Given the description of an element on the screen output the (x, y) to click on. 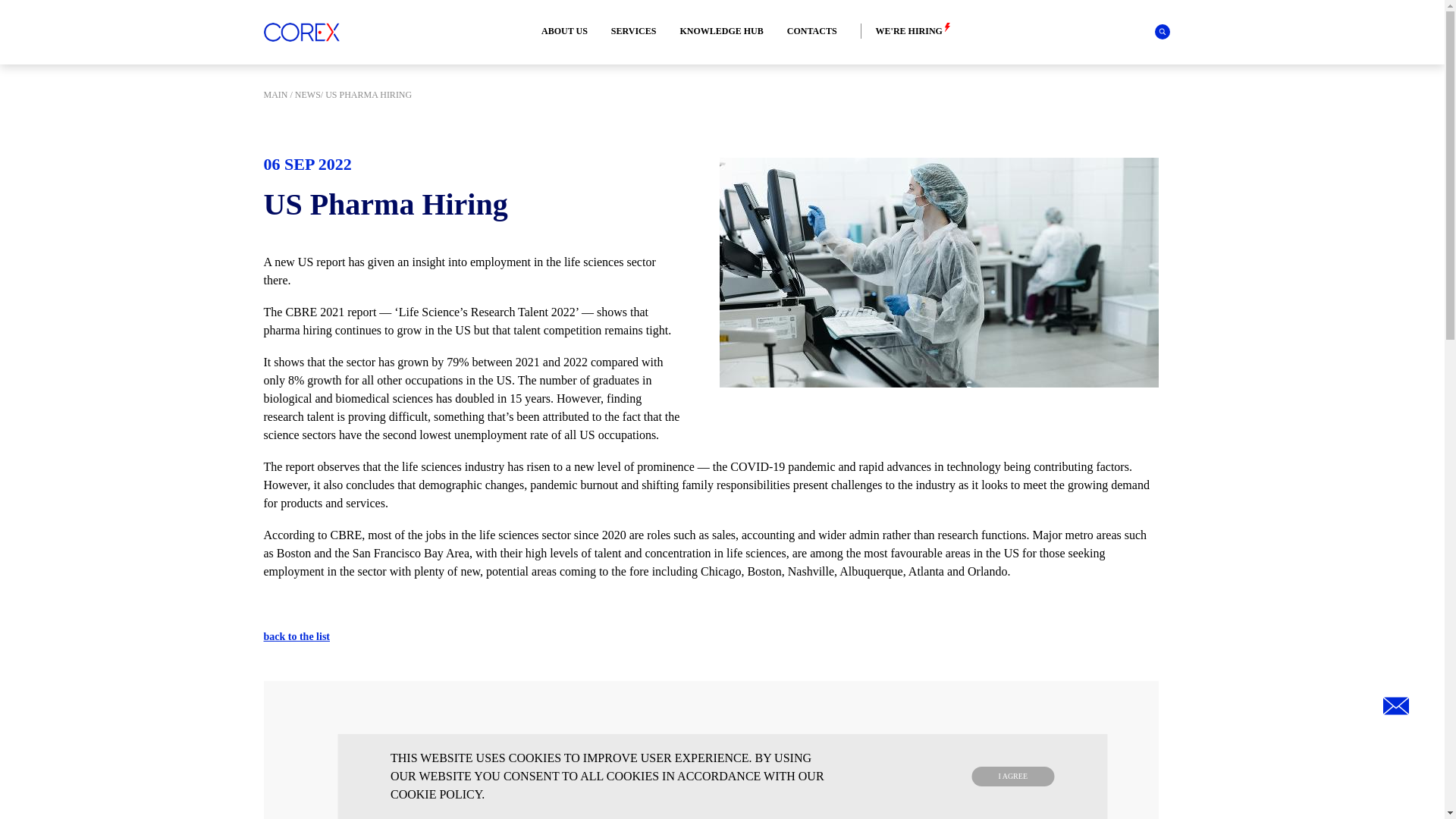
SERVICES (633, 31)
WE'RE HIRING (901, 31)
ABOUT US (564, 31)
KNOWLEDGE HUB (720, 31)
US Pharma Hiring (938, 272)
CONTACTS (812, 31)
Main (276, 94)
